Given the description of an element on the screen output the (x, y) to click on. 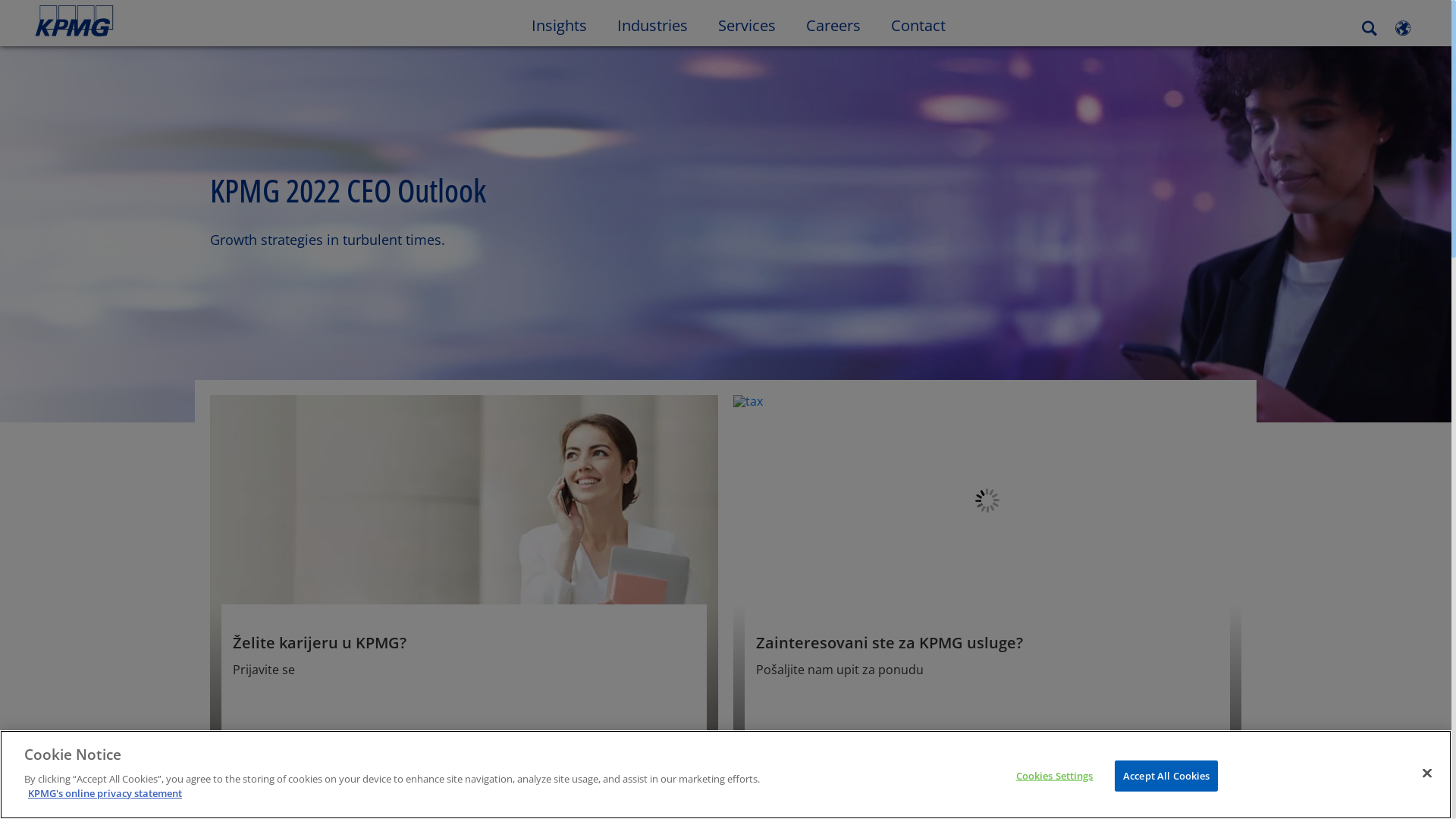
Insights Element type: text (559, 23)
KPMG 2022 CEO Outlook
Growth strategies in turbulent times. Element type: text (725, 232)
Accept All Cookies Element type: text (1165, 775)
Contact Element type: text (917, 23)
KPMG's online privacy statement Element type: text (105, 793)
Careers Element type: text (832, 23)
Cookies Settings Element type: text (1054, 775)
Services Element type: text (746, 23)
Skip to content Element type: text (175, 21)
Industries Element type: text (652, 23)
